Given the description of an element on the screen output the (x, y) to click on. 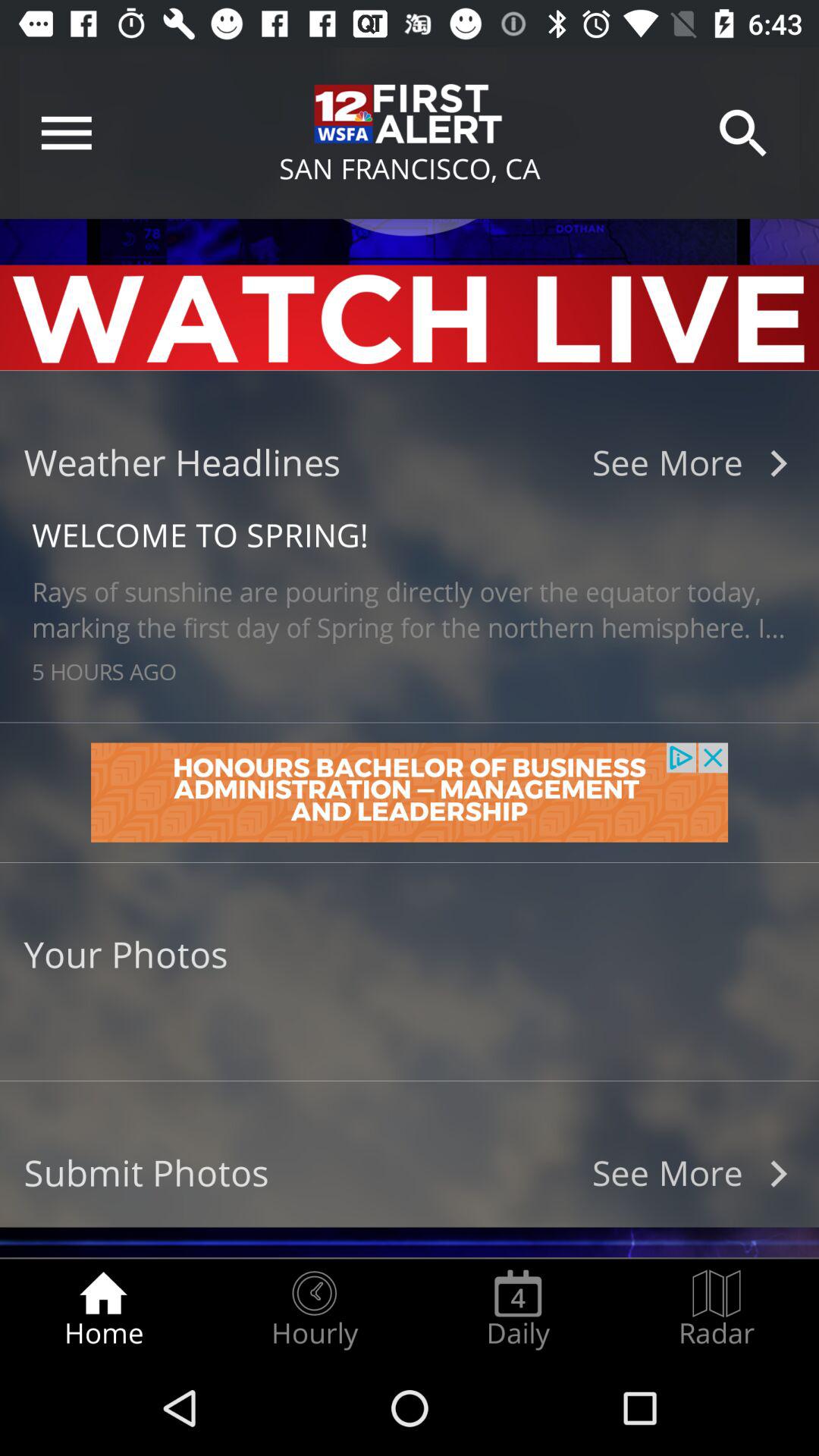
choose the daily item (518, 1309)
